Given the description of an element on the screen output the (x, y) to click on. 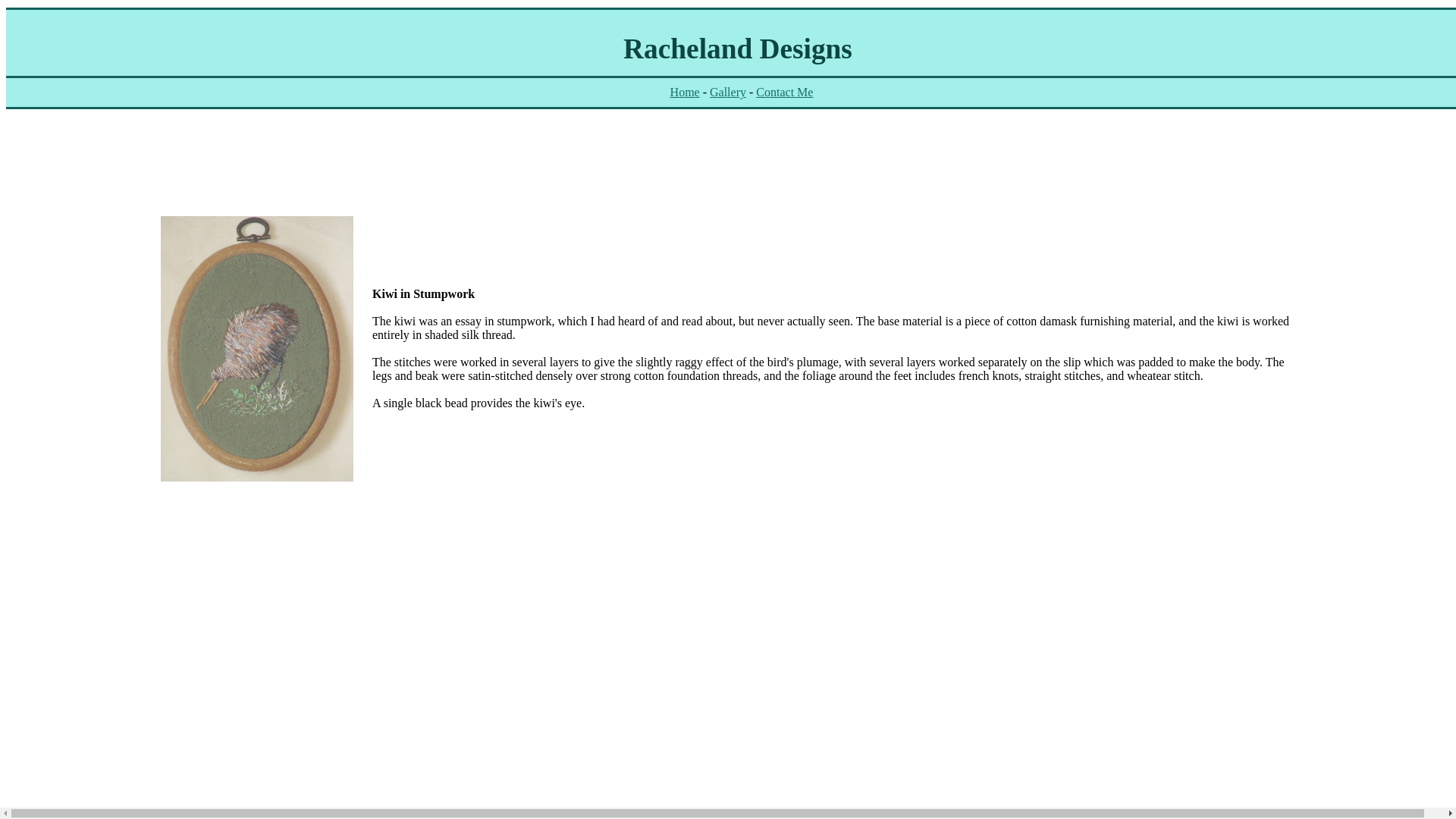
Home (684, 91)
Contact Me (783, 91)
Gallery (727, 91)
